Given the description of an element on the screen output the (x, y) to click on. 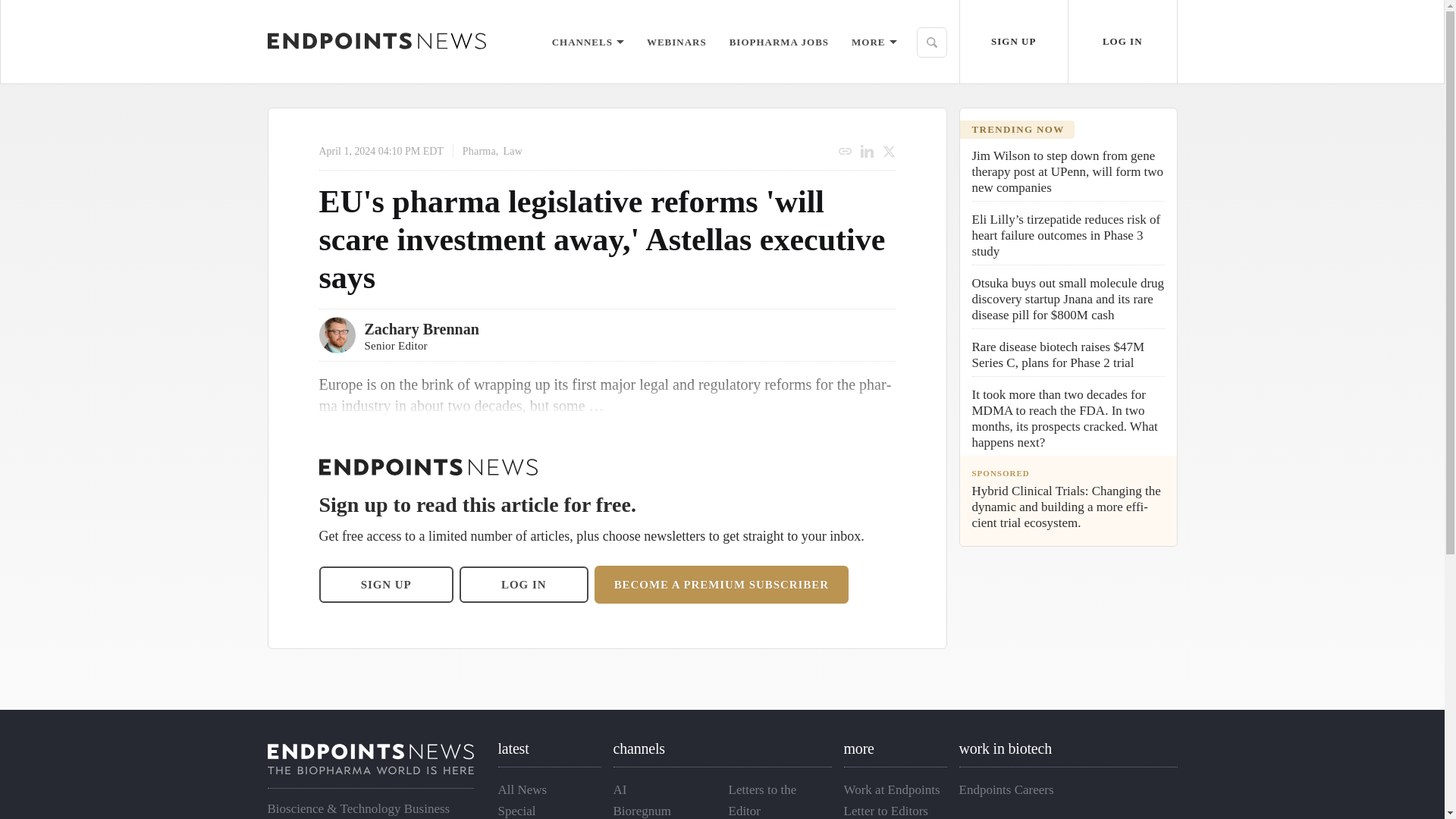
WEBINARS (676, 41)
BIOPHARMA JOBS (778, 41)
